Given the description of an element on the screen output the (x, y) to click on. 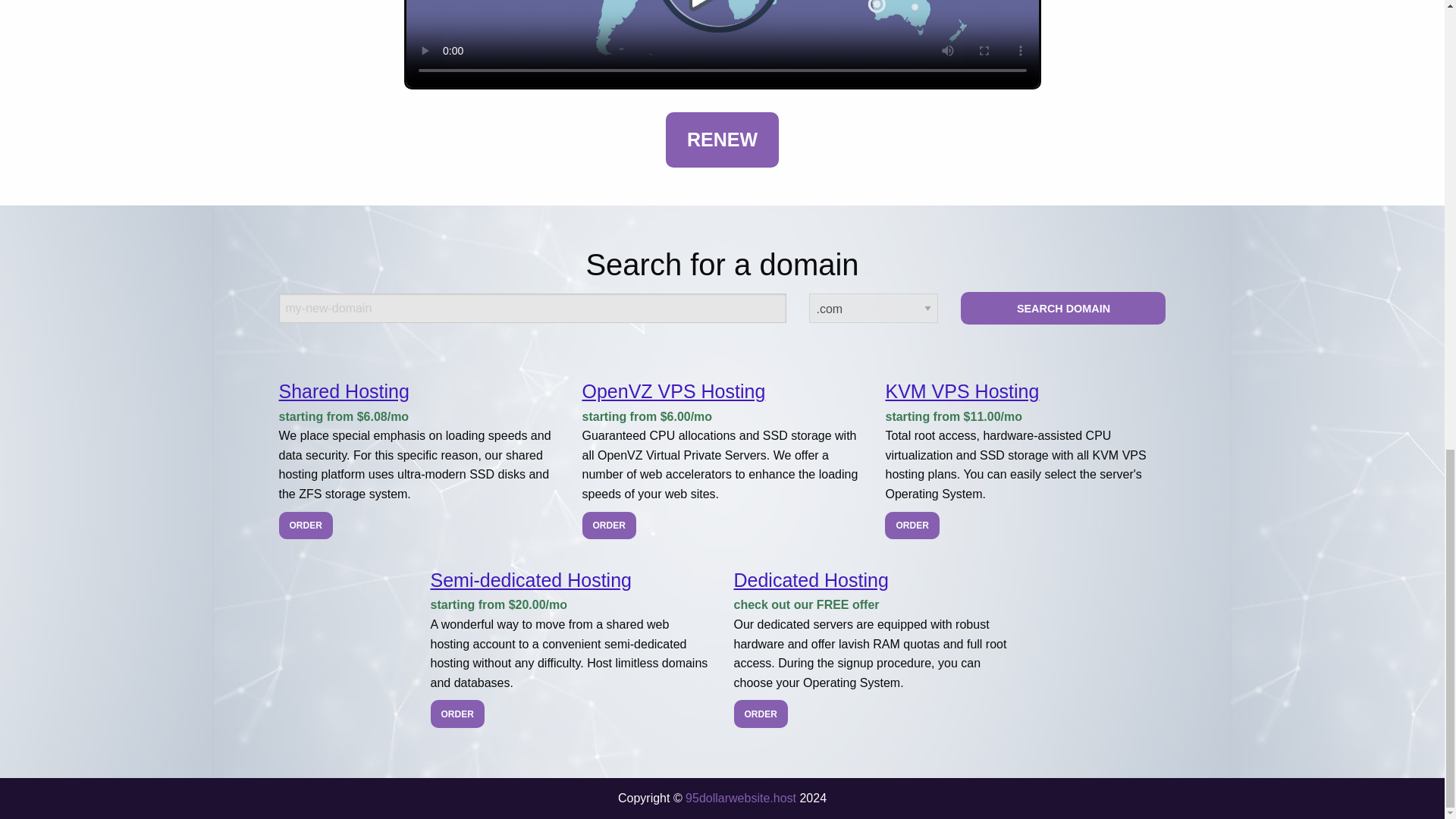
Order (457, 713)
Order (609, 524)
OpenVZ VPS Hosting (673, 391)
ORDER (306, 524)
Semi-dedicated Hosting (530, 579)
ORDER (912, 524)
ORDER (609, 524)
KVM VPS Hosting (962, 391)
Shared Hosting (344, 391)
RENEW (721, 140)
ORDER (457, 713)
Order (912, 524)
ORDER (760, 713)
95dollarwebsite.host (740, 797)
Shared Hosting (344, 391)
